Given the description of an element on the screen output the (x, y) to click on. 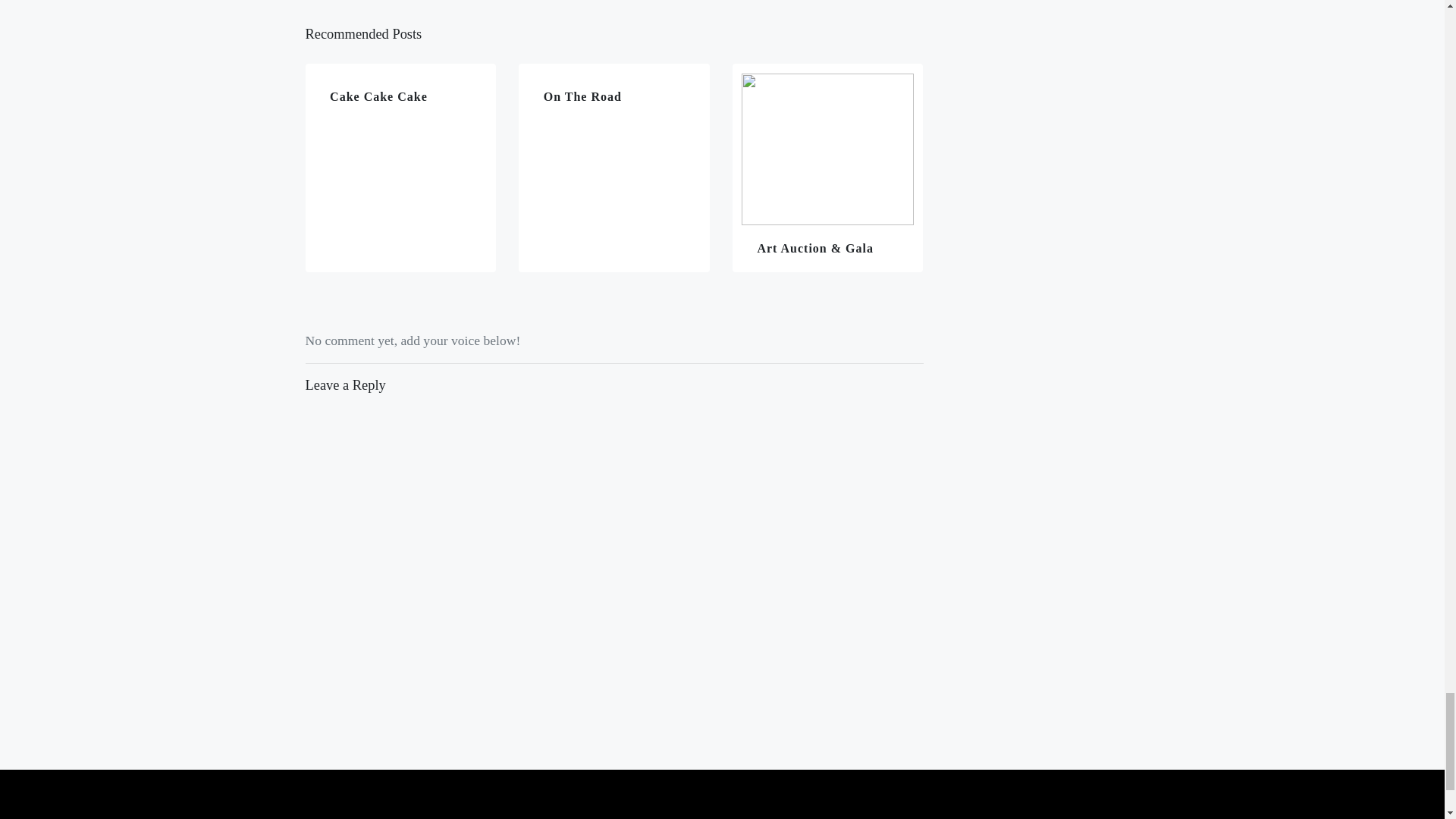
On The Road (614, 167)
Cake Cake Cake (400, 167)
